Given the description of an element on the screen output the (x, y) to click on. 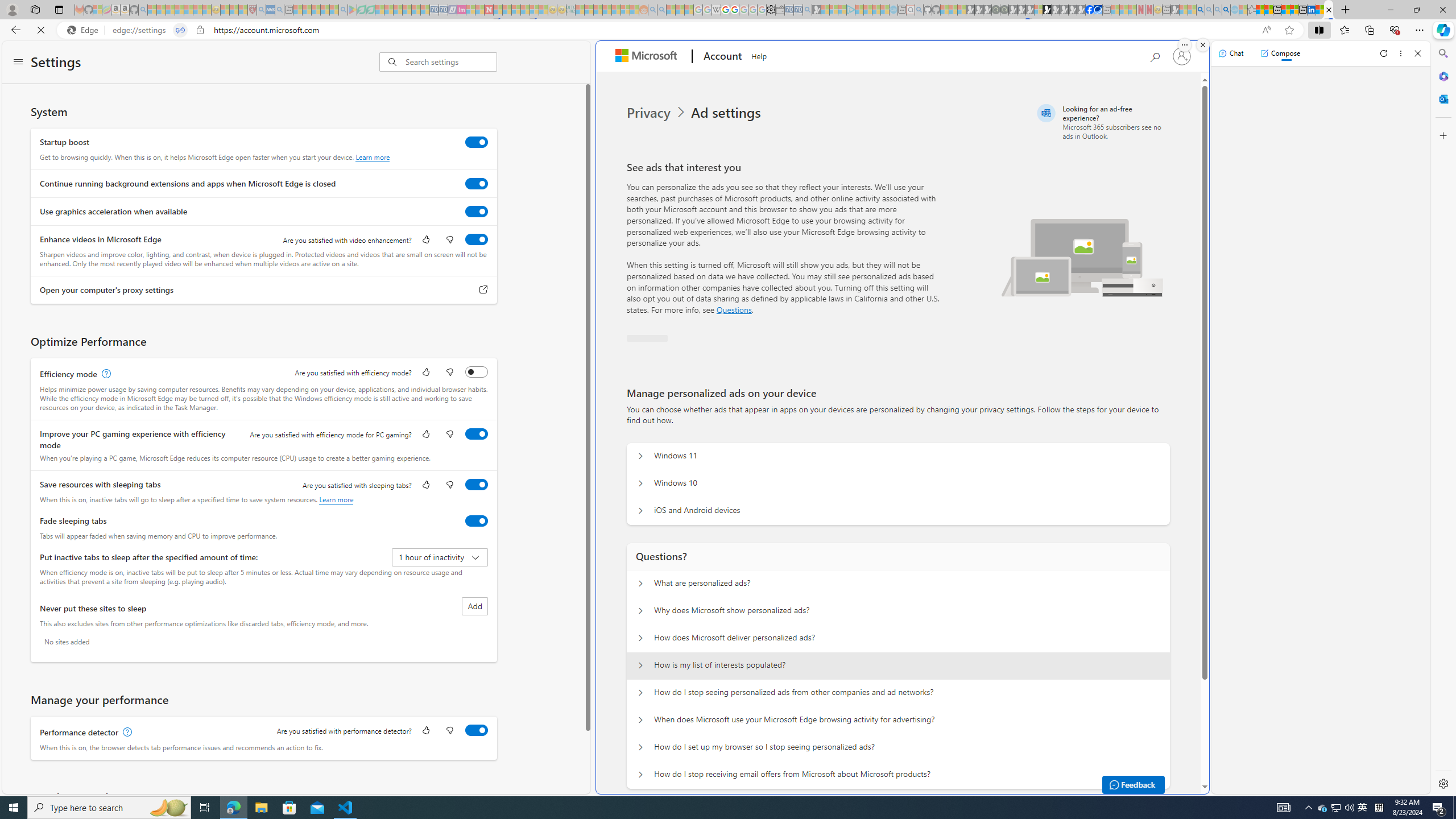
Compose (1279, 52)
Manage personalized ads on your device Windows 10 (640, 483)
Bing AI - Search (1200, 9)
Wallet - Sleeping (779, 9)
Fade sleeping tabs (476, 520)
Like (425, 731)
Add site to never put these sites to sleep list (474, 606)
